Given the description of an element on the screen output the (x, y) to click on. 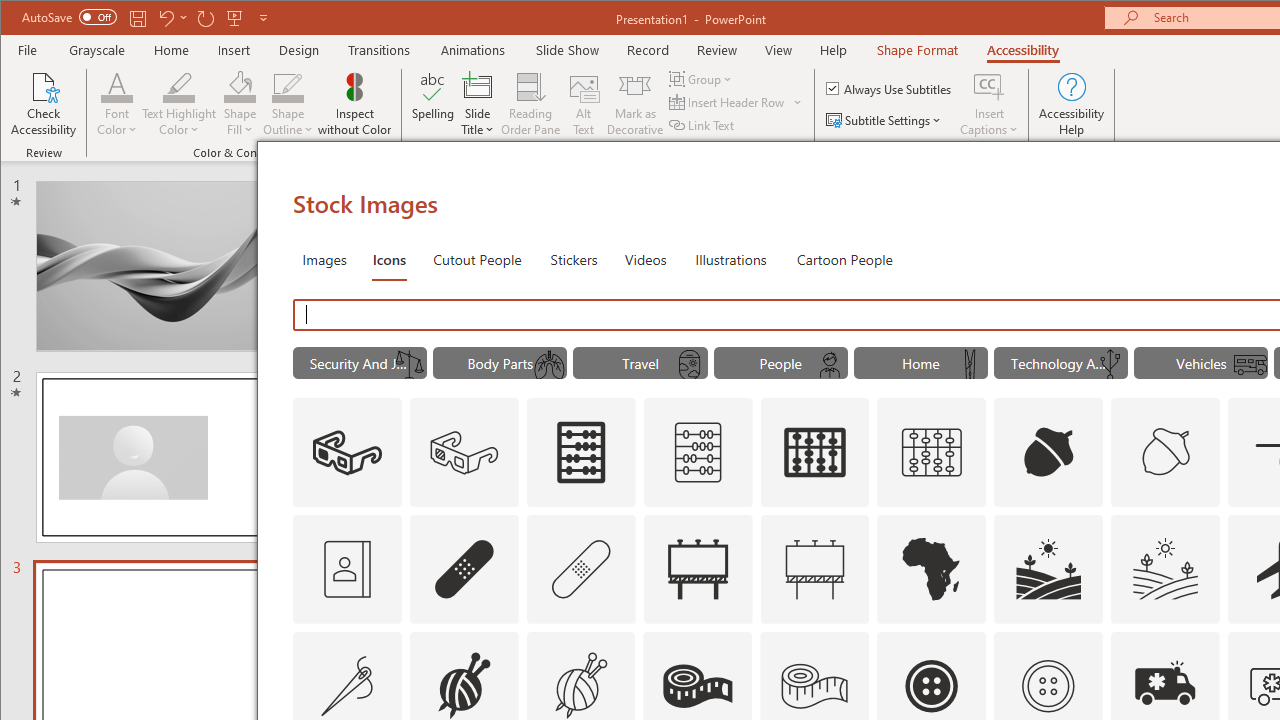
Grayscale (97, 50)
AutomationID: Icons_3dGlasses (346, 452)
AutomationID: Icons_Lungs_M (549, 365)
AutomationID: Icons_Abacus1_M (931, 452)
AutomationID: Icons_Acorn_M (1165, 452)
Inspect without Color (355, 104)
AutomationID: Icons_SchoolBoy_M (829, 365)
Reading Order Pane (531, 104)
Check Accessibility (43, 104)
Spelling... (432, 104)
Subtitle Settings (885, 119)
